Given the description of an element on the screen output the (x, y) to click on. 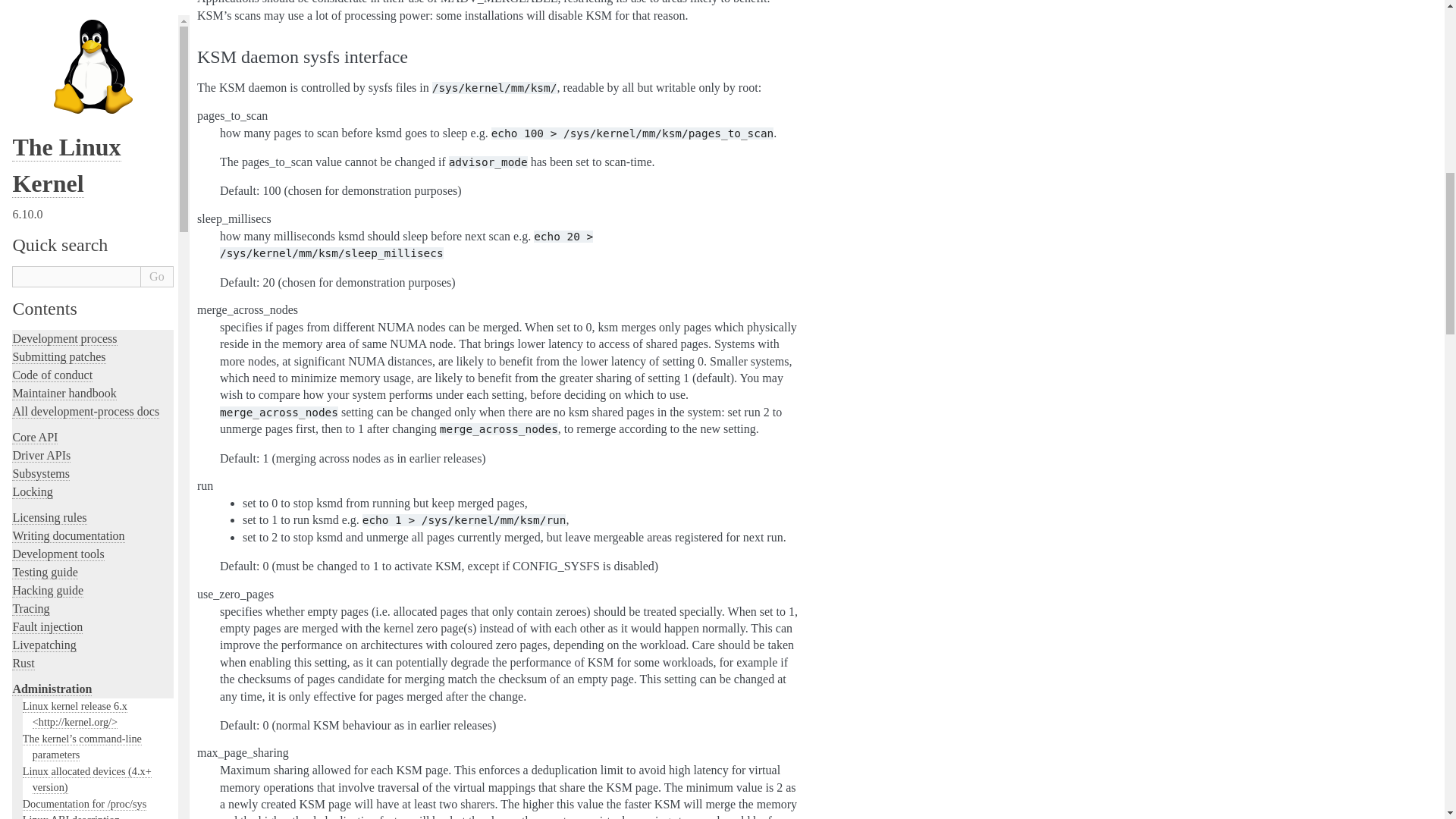
Tainted kernels (55, 179)
Hardware vulnerabilities (77, 33)
How to verify bugs and bisect regressions (87, 122)
Linux ABI description (71, 3)
Dynamic debug (57, 212)
Feature status on all architectures (95, 16)
Reporting regressions (70, 65)
Reporting issues (58, 49)
Bisecting a bug (56, 163)
Bug hunting (50, 146)
How to quickly build a trimmed Linux kernel (92, 90)
